Given the description of an element on the screen output the (x, y) to click on. 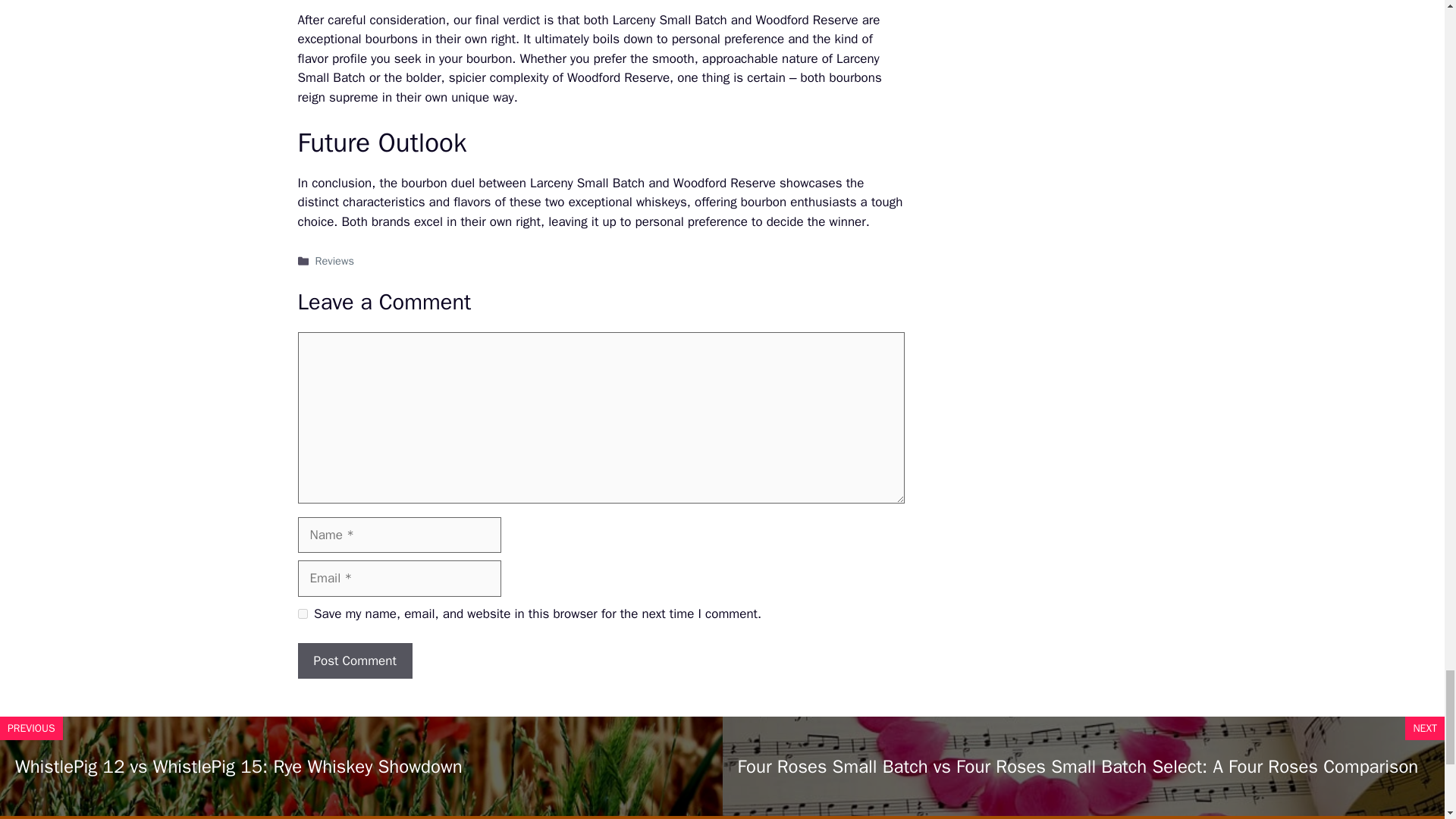
Post Comment (354, 660)
yes (302, 614)
Post Comment (354, 660)
Reviews (334, 260)
